Given the description of an element on the screen output the (x, y) to click on. 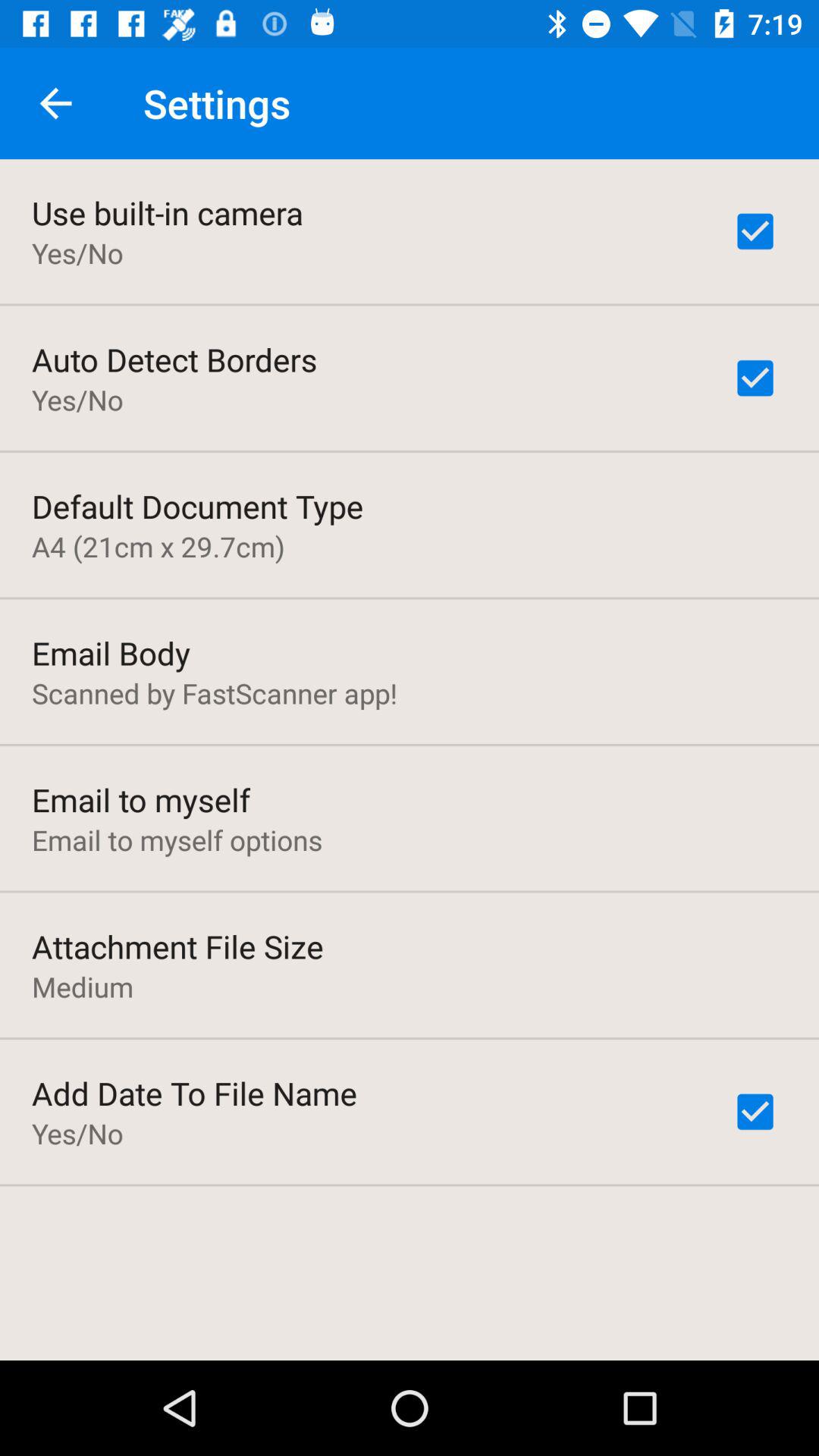
press icon below email body (214, 693)
